Given the description of an element on the screen output the (x, y) to click on. 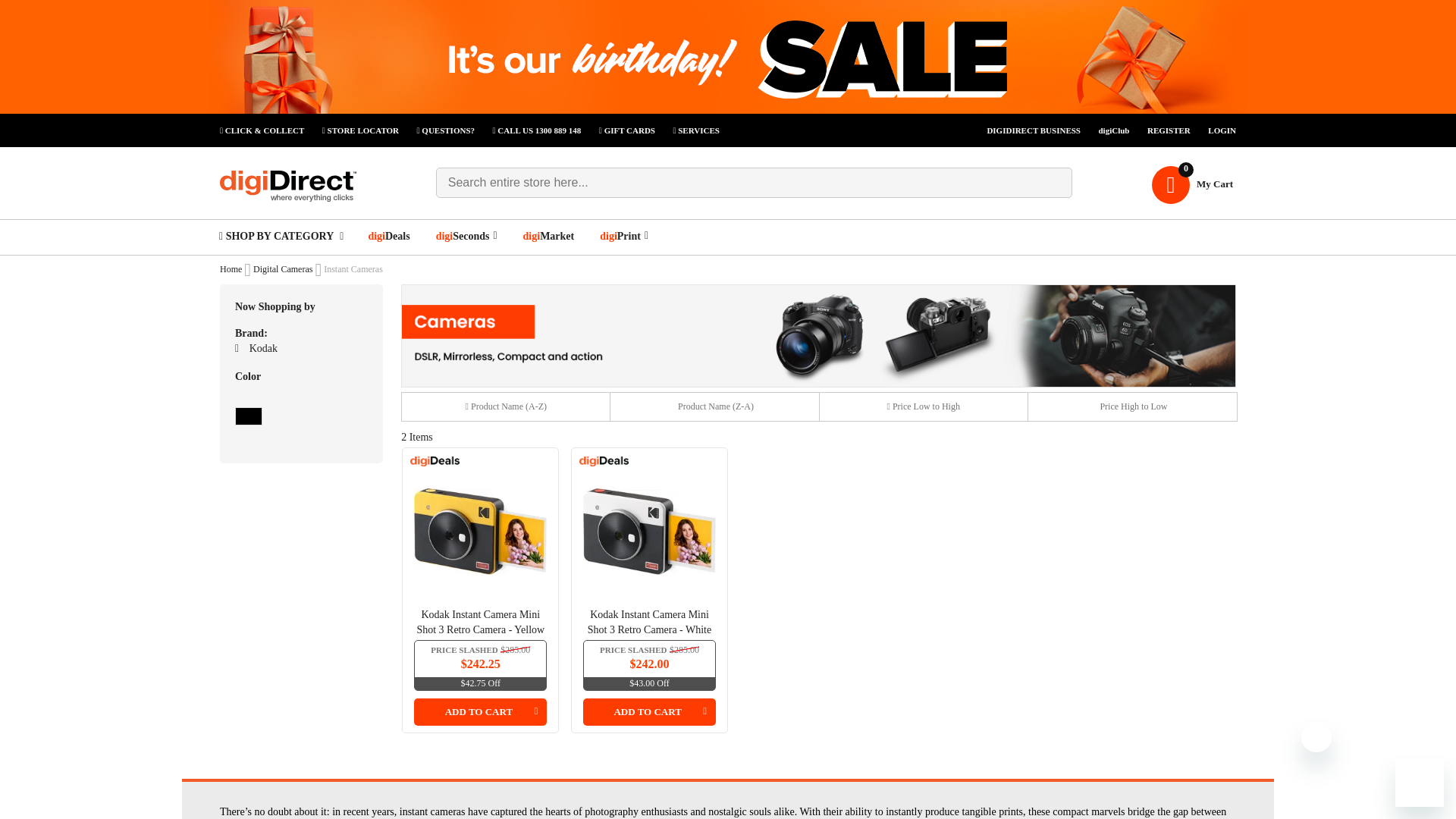
call-us (544, 130)
SERVICES (695, 130)
digiClub (1041, 130)
digiServices (695, 130)
Register (1176, 130)
DIGIDIRECT BUSINESS (1041, 130)
FAQ (452, 130)
LOGIN (1222, 130)
REGISTER (1176, 130)
Store Locator (367, 130)
